Given the description of an element on the screen output the (x, y) to click on. 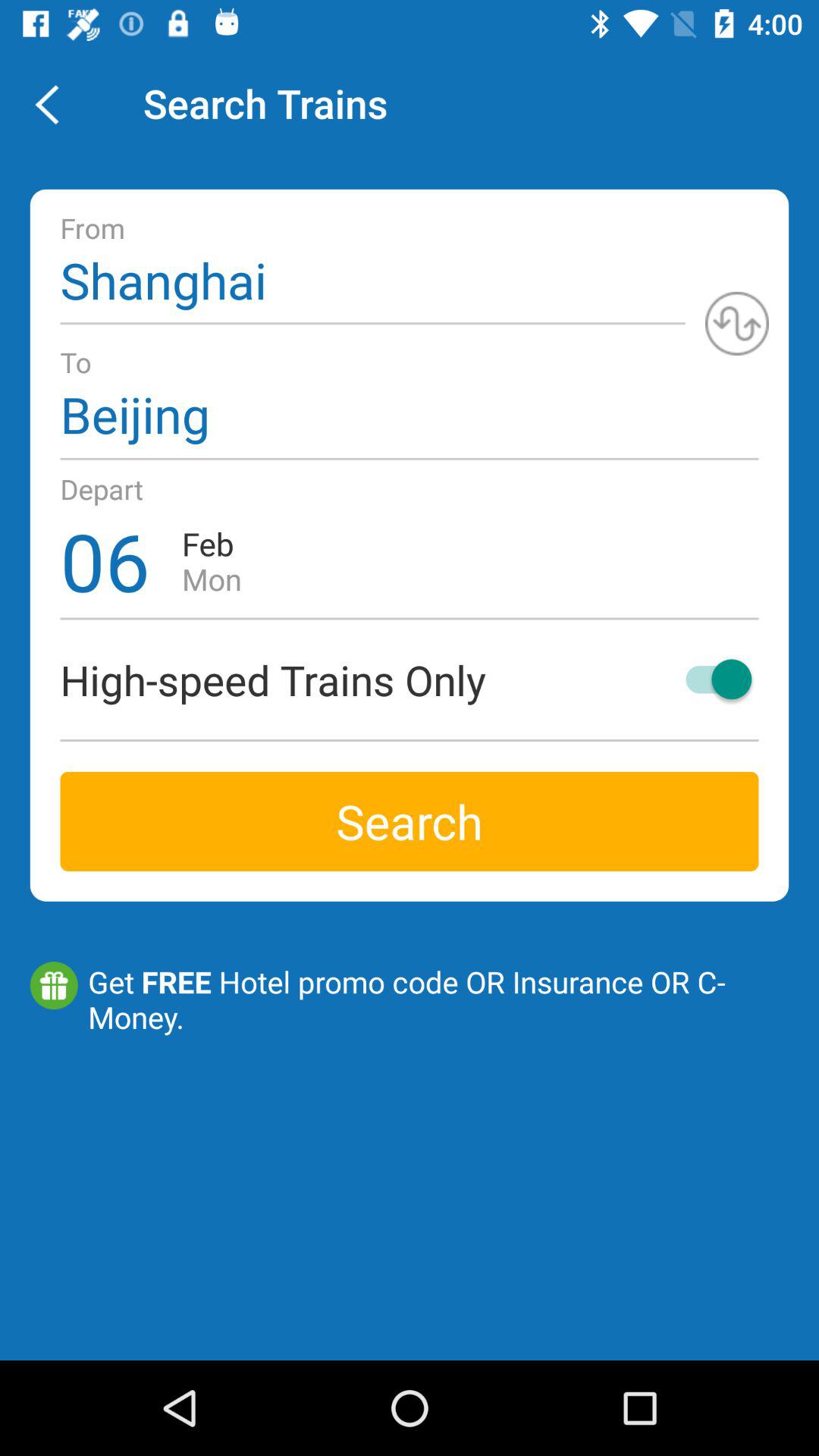
choose the icon to the right of the high speed trains icon (711, 679)
